Given the description of an element on the screen output the (x, y) to click on. 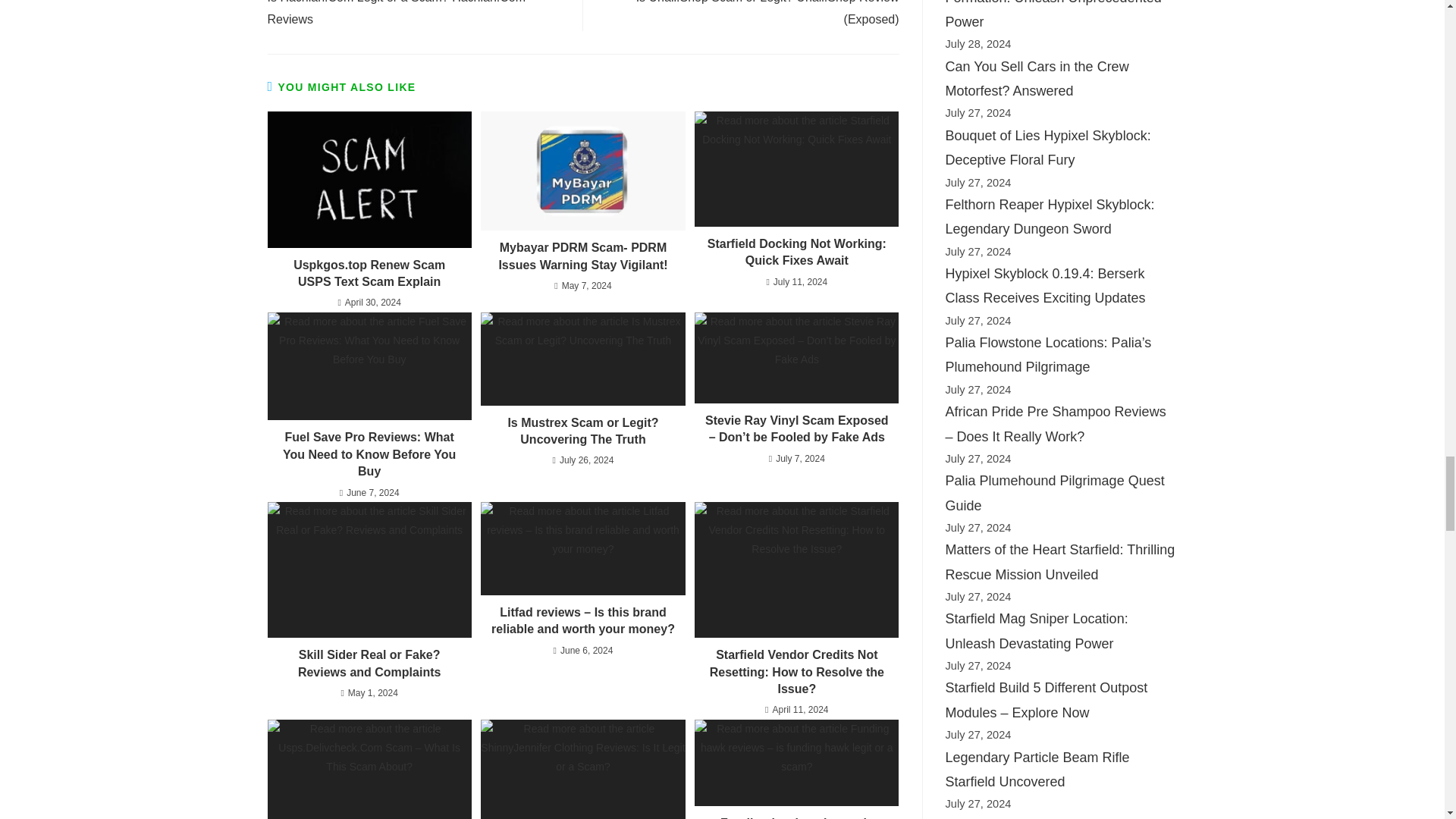
Usps.Delivcheck.Com Scam - What Is This Scam About? (368, 769)
Uspkgos.top Renew Scam USPS Text Scam Explain (368, 179)
ShinnyJennifer Clothing Reviews: Is It Legit or a Scam? (582, 769)
Skill Sider Real or Fake? Reviews and Complaints (368, 570)
Fuel Save Pro Reviews: What You Need to Know Before You Buy (368, 366)
Mybayar PDRM Scam- PDRM Issues Warning Stay Vigilant! (582, 170)
Stevie Ray Vinyl Scam Exposed - Don't be Fooled by Fake Ads (796, 357)
Is Mustrex Scam or Legit? Uncovering The Truth (582, 358)
Starfield Docking Not Working: Quick Fixes Await (796, 168)
Funding hawk reviews - is funding hawk legit or a scam? (796, 762)
